Given the description of an element on the screen output the (x, y) to click on. 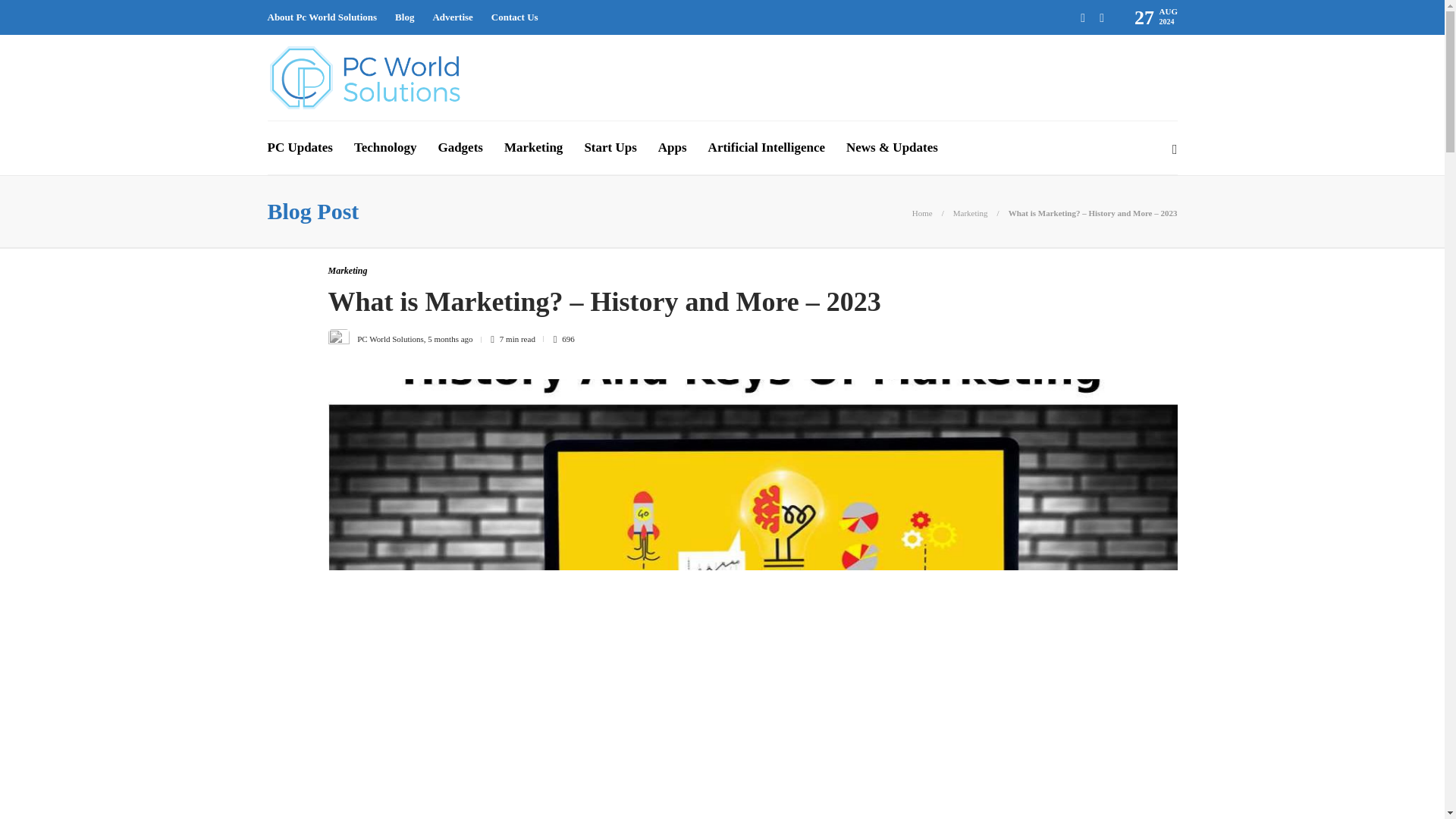
Home (922, 212)
PC World Solutions (389, 338)
Contact Us (515, 17)
Technology (384, 147)
Home (922, 212)
Marketing (346, 270)
Advertise (451, 17)
About Pc World Solutions (321, 17)
Start Ups (609, 147)
Marketing (970, 212)
